Given the description of an element on the screen output the (x, y) to click on. 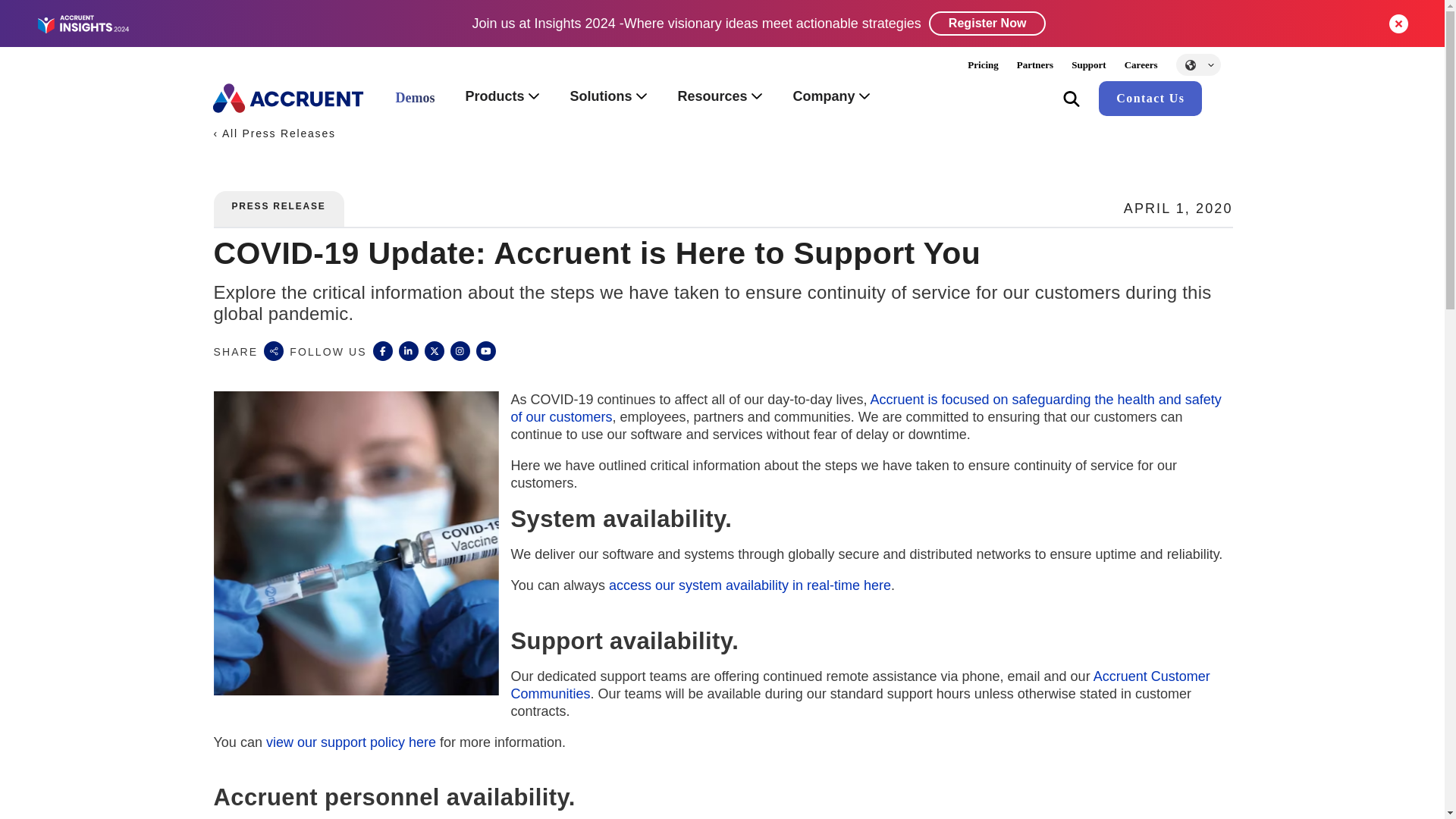
Partners (1034, 64)
Demos (414, 97)
Solutions (608, 98)
Register Now (987, 23)
Products (501, 98)
Pricing (982, 64)
Support (1088, 64)
Careers (1141, 64)
